Given the description of an element on the screen output the (x, y) to click on. 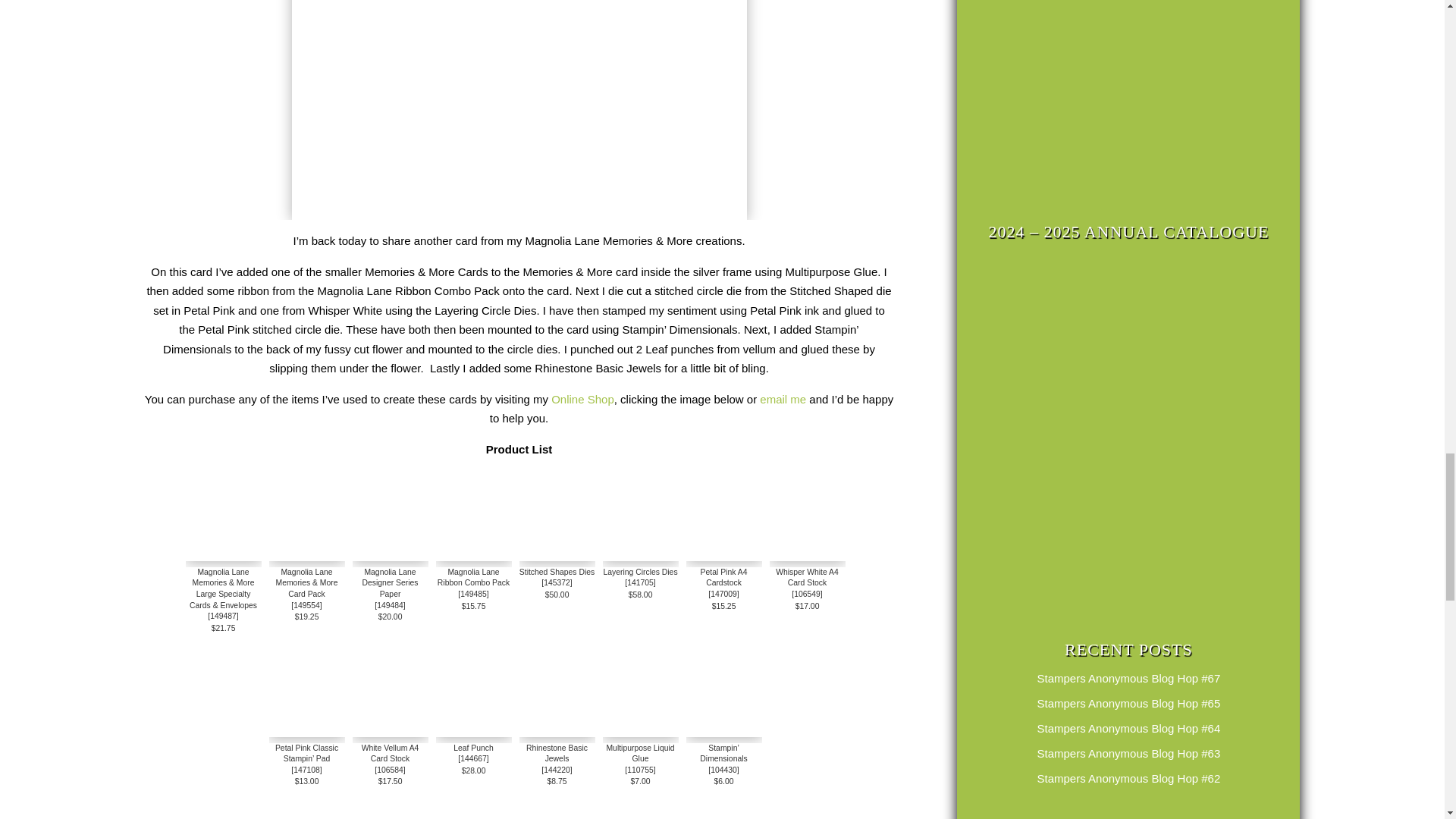
Magnolia Lane Designer Series Paper (390, 556)
email me (783, 399)
Online Shop (582, 399)
Magnolia Lane Designer Series Paper (390, 523)
